Given the description of an element on the screen output the (x, y) to click on. 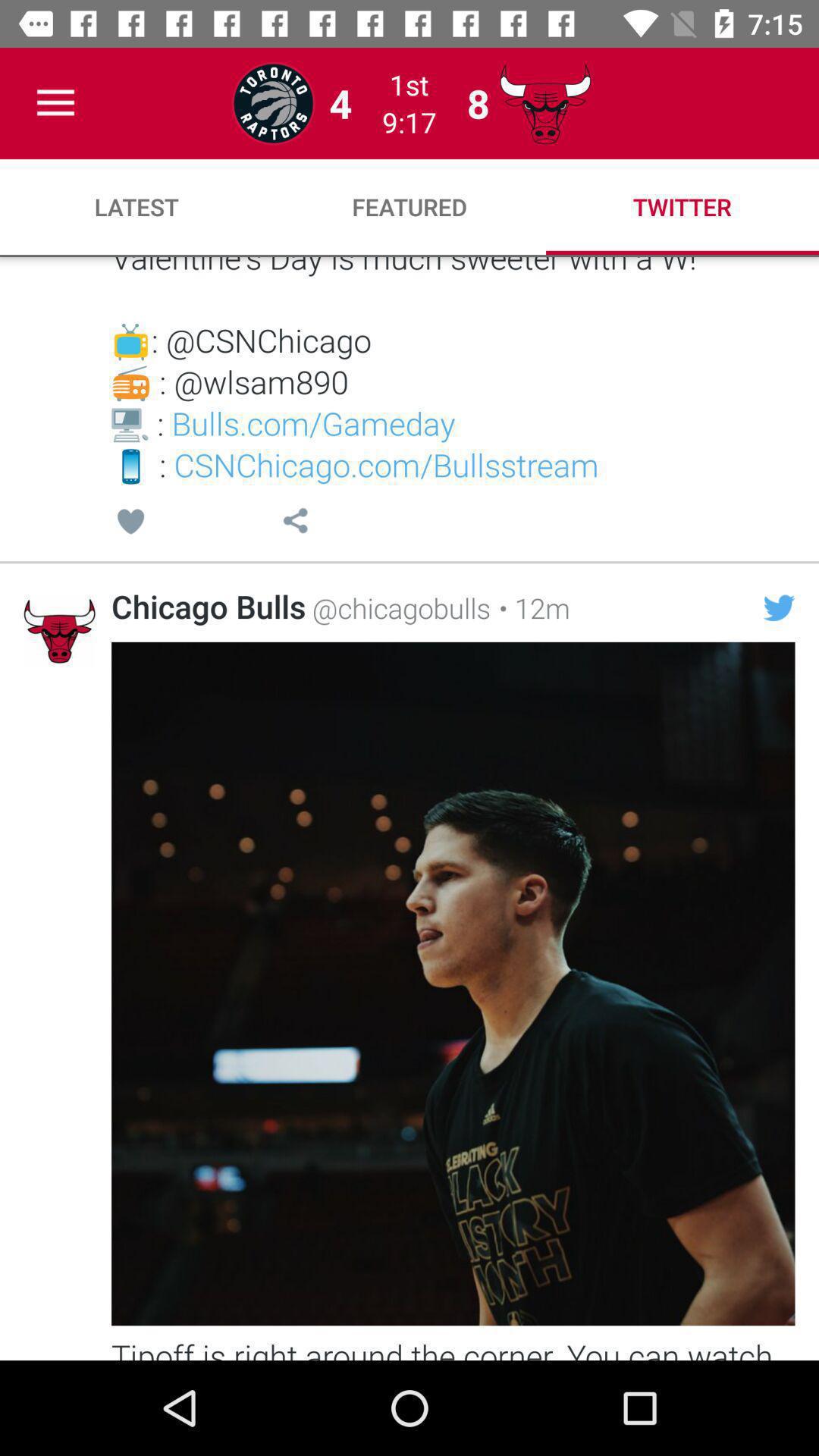
tap the icon next to the chicago bulls (397, 607)
